Given the description of an element on the screen output the (x, y) to click on. 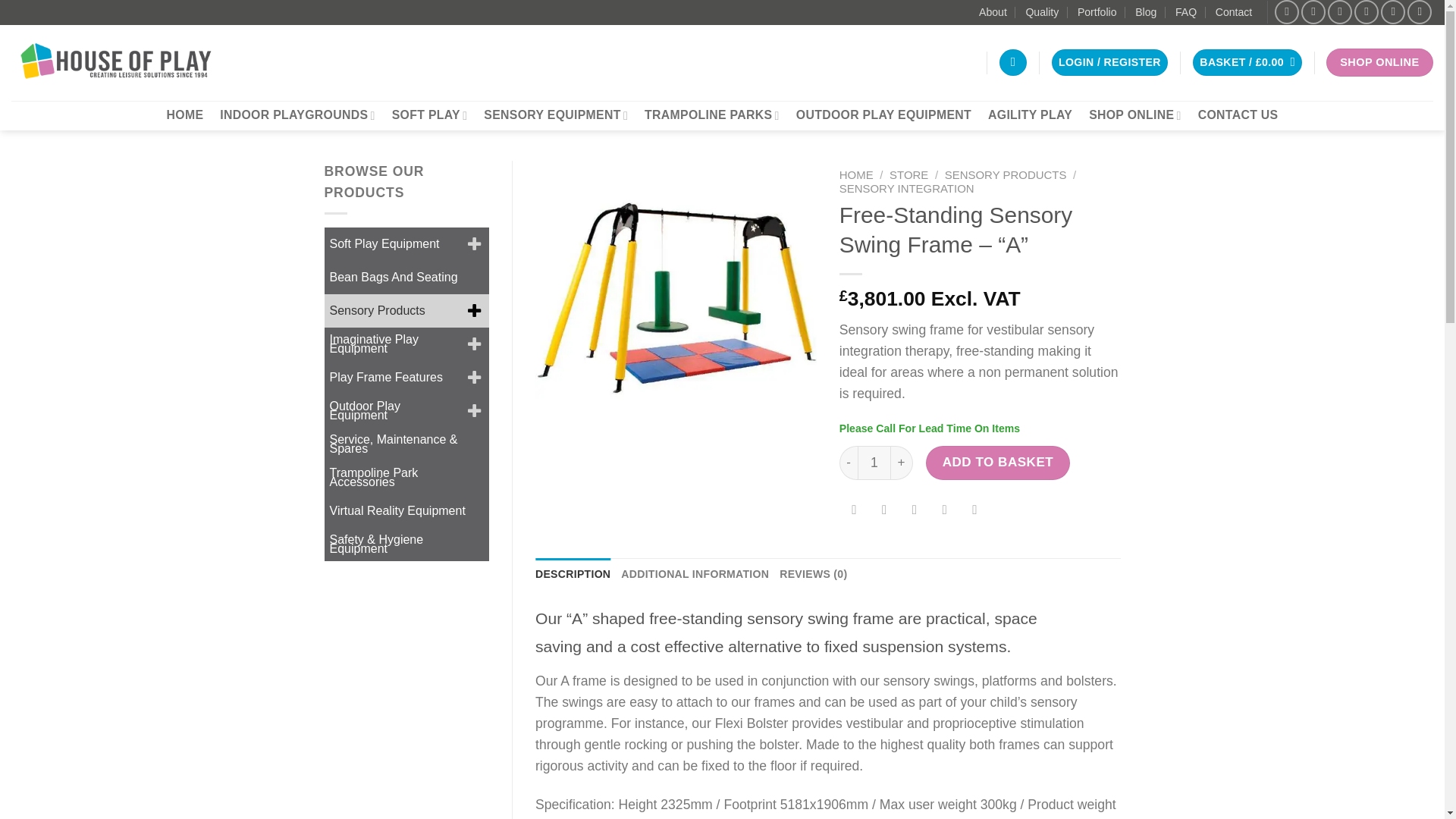
SHOP ONLINE (1379, 62)
About (992, 12)
Follow on Twitter (1339, 12)
Contact (1233, 12)
Follow on YouTube (1419, 12)
Portfolio (1096, 12)
Follow on LinkedIn (1392, 12)
Login (1109, 62)
1 (874, 462)
House of Play Europe Limited (116, 62)
Free-standing sensory swing frame - "a" 1 (675, 301)
Follow on Facebook (1286, 12)
Call us (1366, 12)
SOFT PLAY (429, 115)
INDOOR PLAYGROUNDS (296, 115)
